Given the description of an element on the screen output the (x, y) to click on. 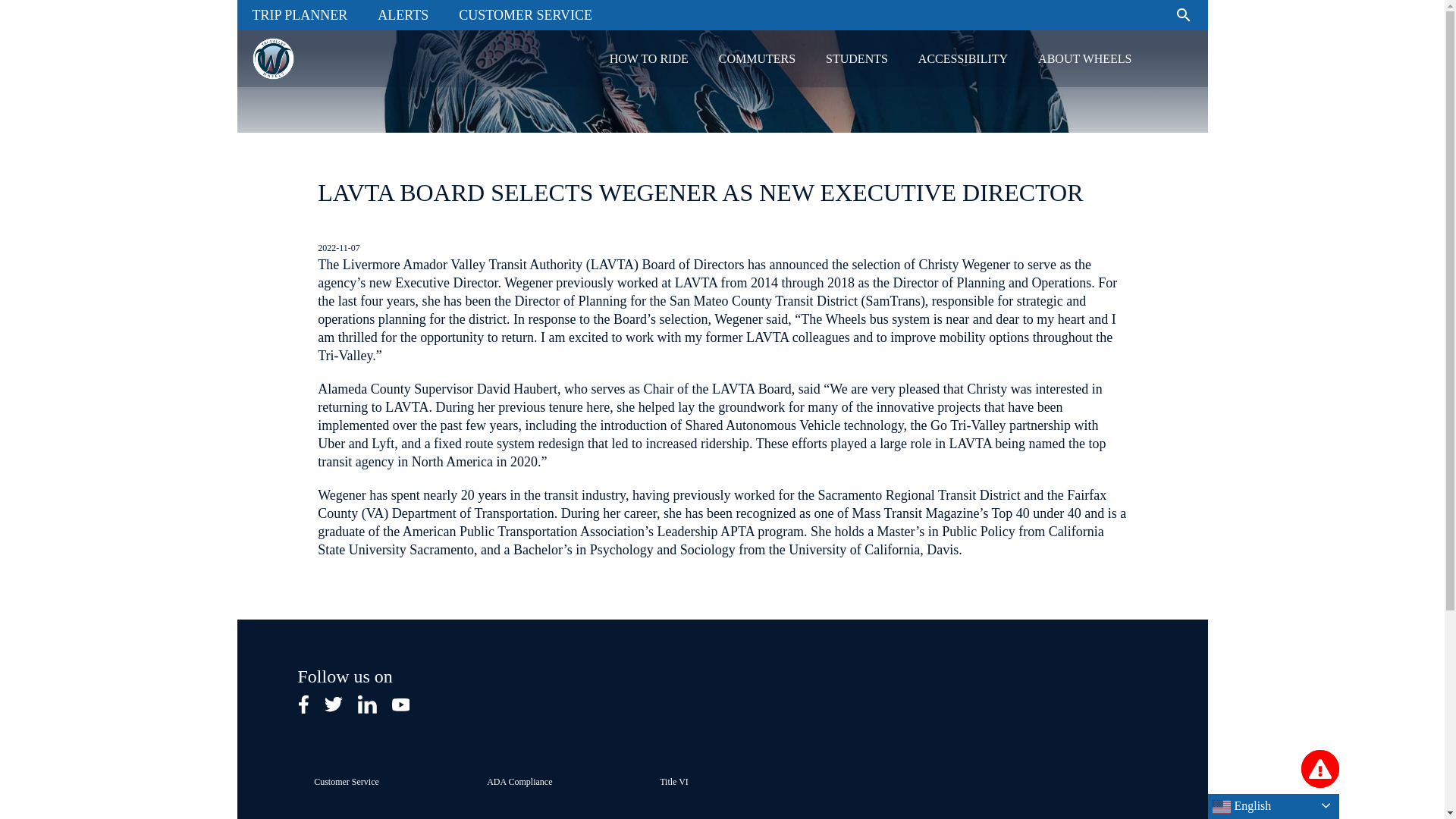
Students (856, 58)
LAVTA BOARD SELECTS WEGENER AS NEW EXECUTIVE DIRECTOR (700, 192)
ABOUT WHEELS (1085, 58)
Ride the bus (648, 58)
ACCESSIBILITY (962, 58)
Commuters (756, 58)
ALERTS (403, 15)
TRIP PLANNER (298, 15)
COMMUTERS (756, 58)
YouTube (400, 704)
LinkedIn (367, 704)
Twitter (333, 707)
HOW TO RIDE (648, 58)
Twitter (333, 703)
STUDENTS (856, 58)
